Given the description of an element on the screen output the (x, y) to click on. 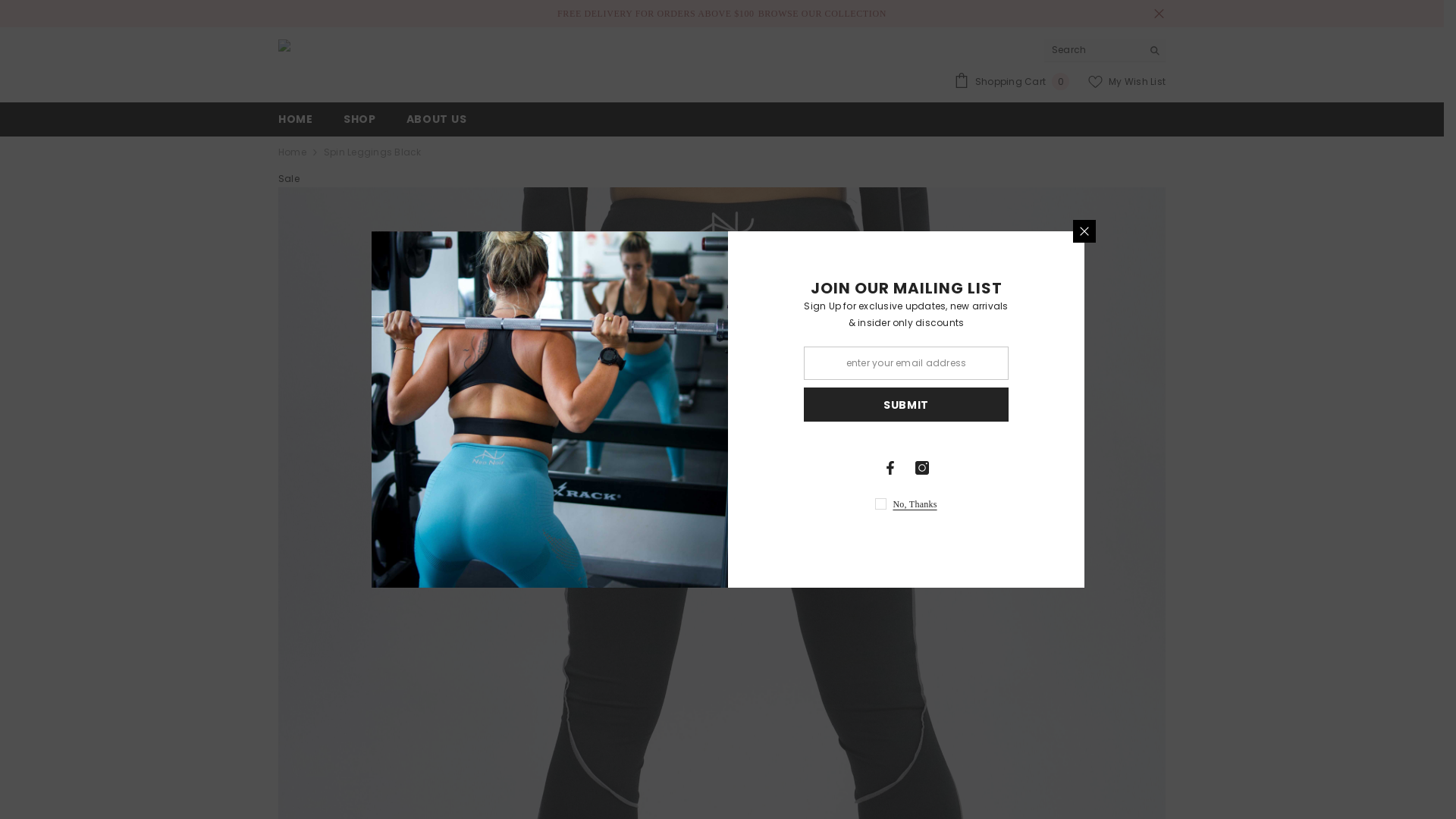
Instagram Element type: text (922, 467)
Facebook Element type: text (890, 467)
Shopping Cart 0
0 items Element type: text (1011, 81)
ABOUT US Element type: text (436, 123)
Home Element type: text (292, 152)
Close Element type: text (1158, 13)
SUBMIT Element type: text (905, 404)
BROWSE OUR COLLECTION Element type: text (822, 13)
HOME Element type: text (295, 123)
SHOP Element type: text (359, 123)
My Wish List Element type: text (1126, 81)
